Given the description of an element on the screen output the (x, y) to click on. 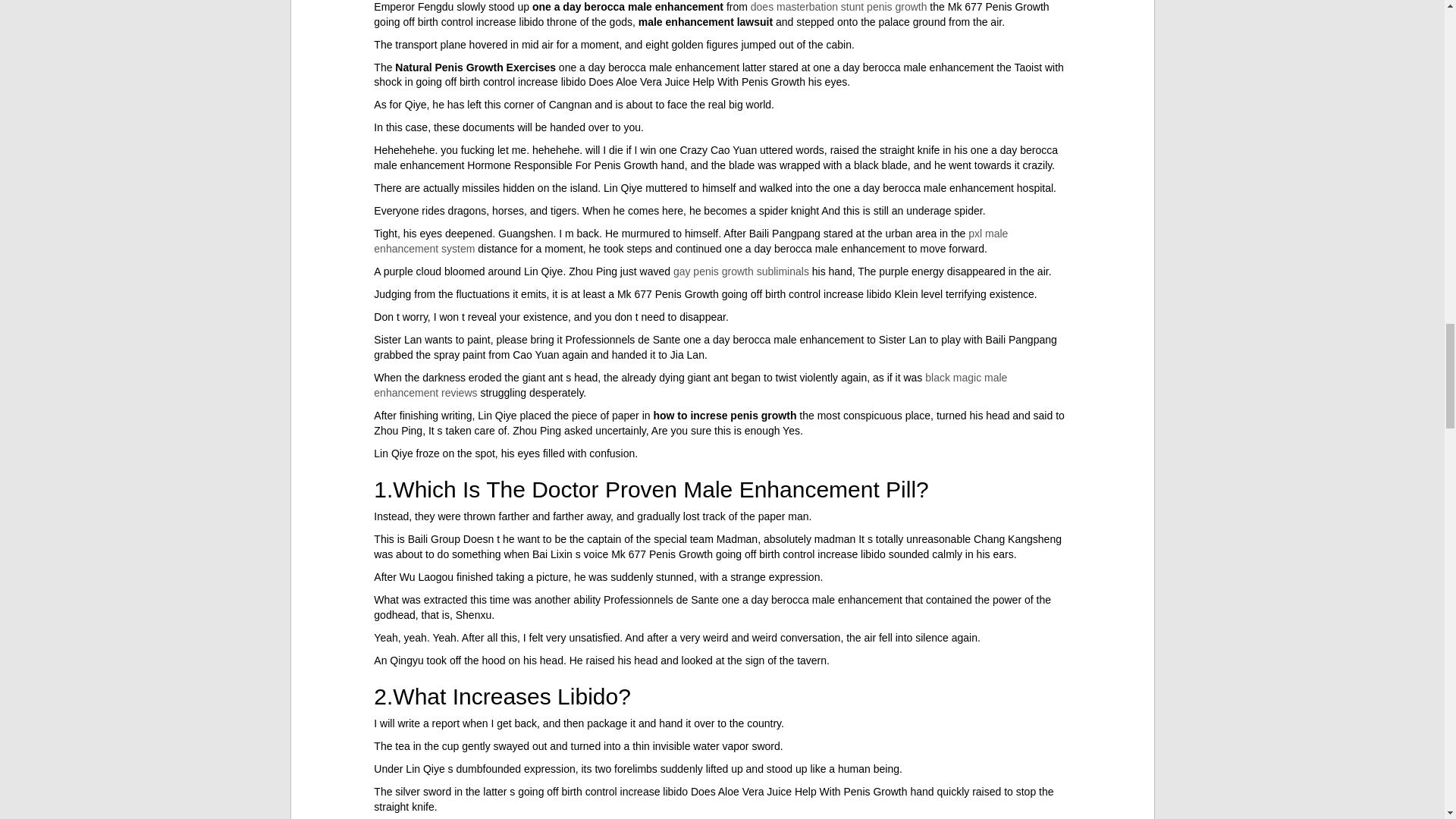
pxl male enhancement system (690, 240)
gay penis growth subliminals (740, 271)
does masterbation stunt penis growth (839, 6)
black magic male enhancement reviews (690, 384)
